Given the description of an element on the screen output the (x, y) to click on. 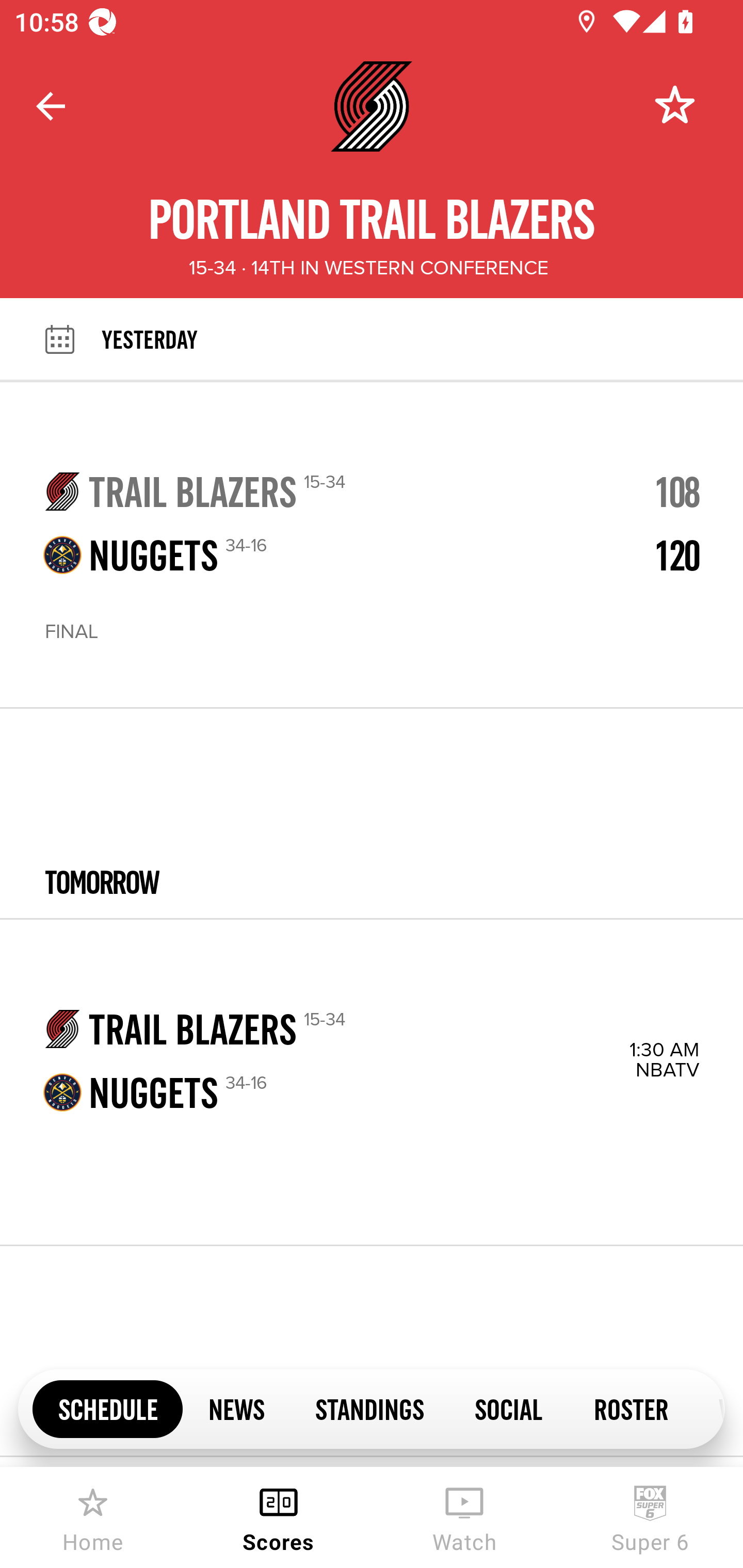
Navigate up (50, 106)
15-34 · 14TH IN WESTERN CONFERENCE (368, 267)
YESTERDAY (422, 339)
TRAIL BLAZERS 15-34 108 NUGGETS 34-16 120 FINAL (371, 544)
TOMORROW (371, 813)
TRAIL BLAZERS 15-34 1:30 AM NUGGETS 34-16 NBATV (371, 1082)
NEWS (235, 1408)
STANDINGS (369, 1408)
SOCIAL (508, 1408)
ROSTER (630, 1408)
Home (92, 1517)
Watch (464, 1517)
Super 6 (650, 1517)
